Given the description of an element on the screen output the (x, y) to click on. 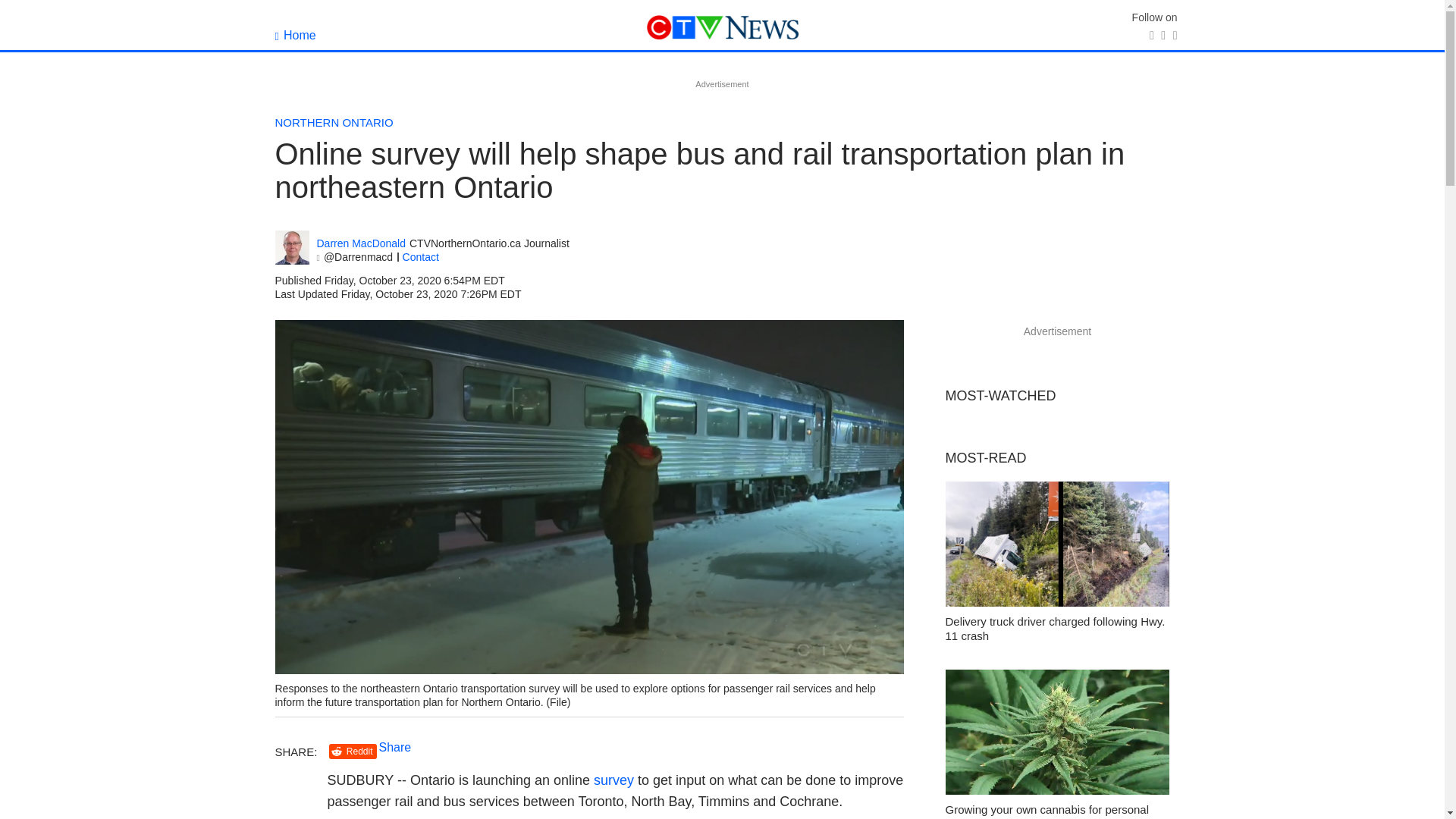
Share (395, 747)
NORTHERN ONTARIO (334, 122)
survey (613, 780)
Home (295, 34)
Reddit (353, 751)
Contact (421, 256)
Darren MacDonald (361, 243)
